Given the description of an element on the screen output the (x, y) to click on. 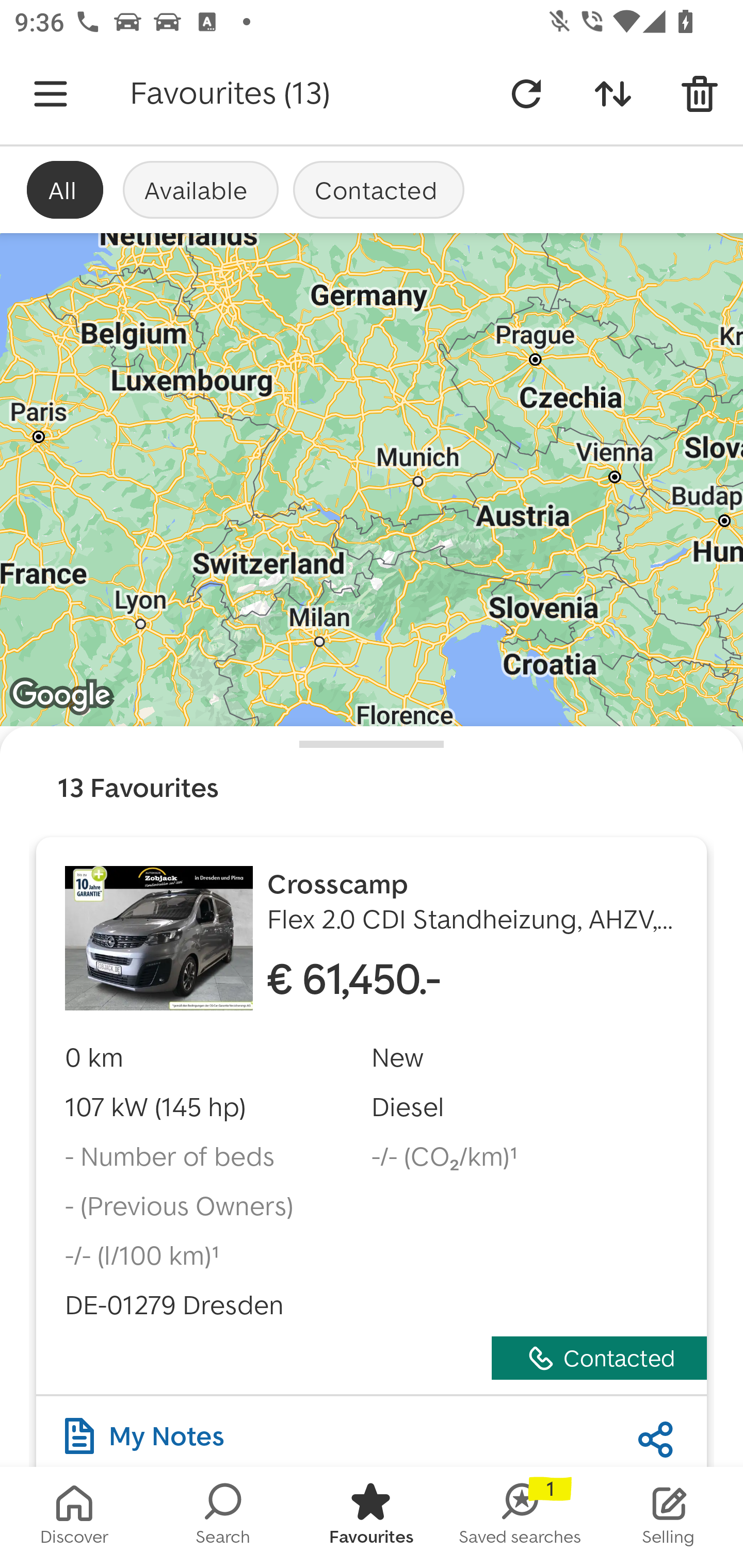
Navigate up (50, 93)
Sort (612, 93)
Delete vehicles (699, 93)
All (64, 189)
Available (200, 189)
Contacted (378, 189)
Google Map (371, 479)
My Notes (144, 1431)
HOMESCREEN Discover (74, 1517)
SEARCH Search (222, 1517)
FAVORITES Favourites (371, 1517)
SAVED_SEARCHES Saved searches 1 (519, 1517)
STOCK_LIST Selling (668, 1517)
